Given the description of an element on the screen output the (x, y) to click on. 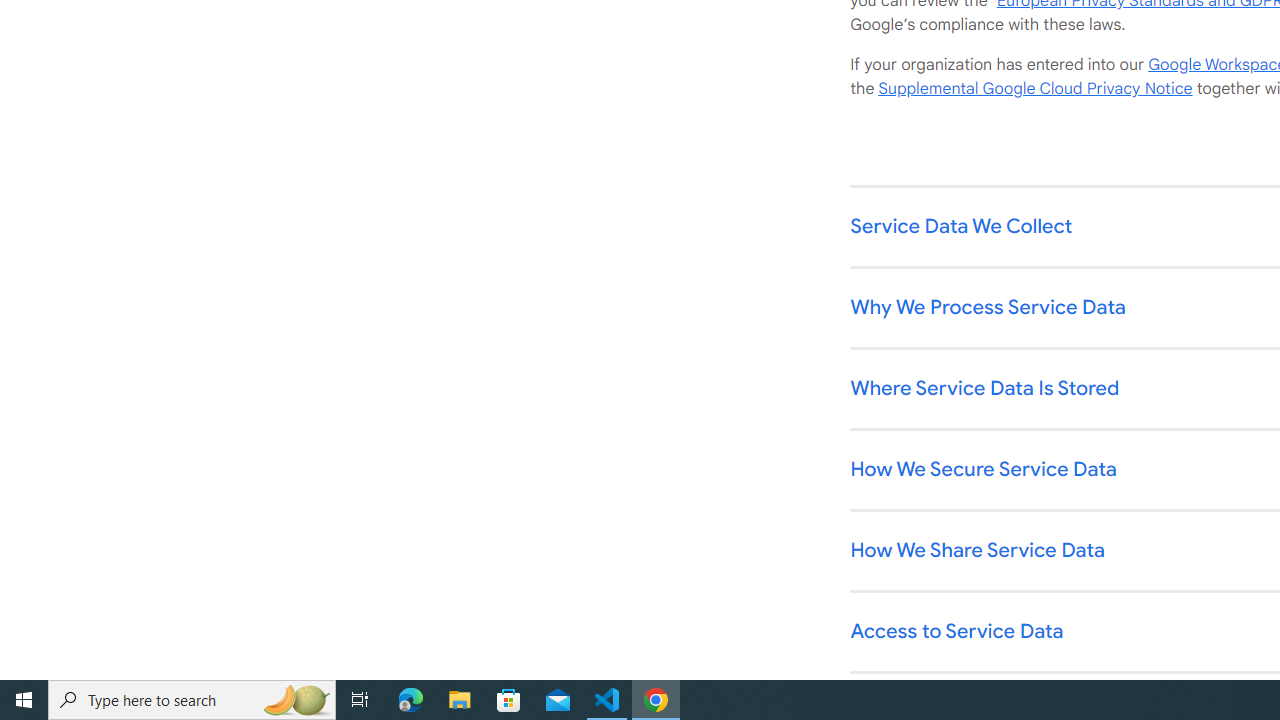
Supplemental Google Cloud Privacy Notice (1035, 89)
